Given the description of an element on the screen output the (x, y) to click on. 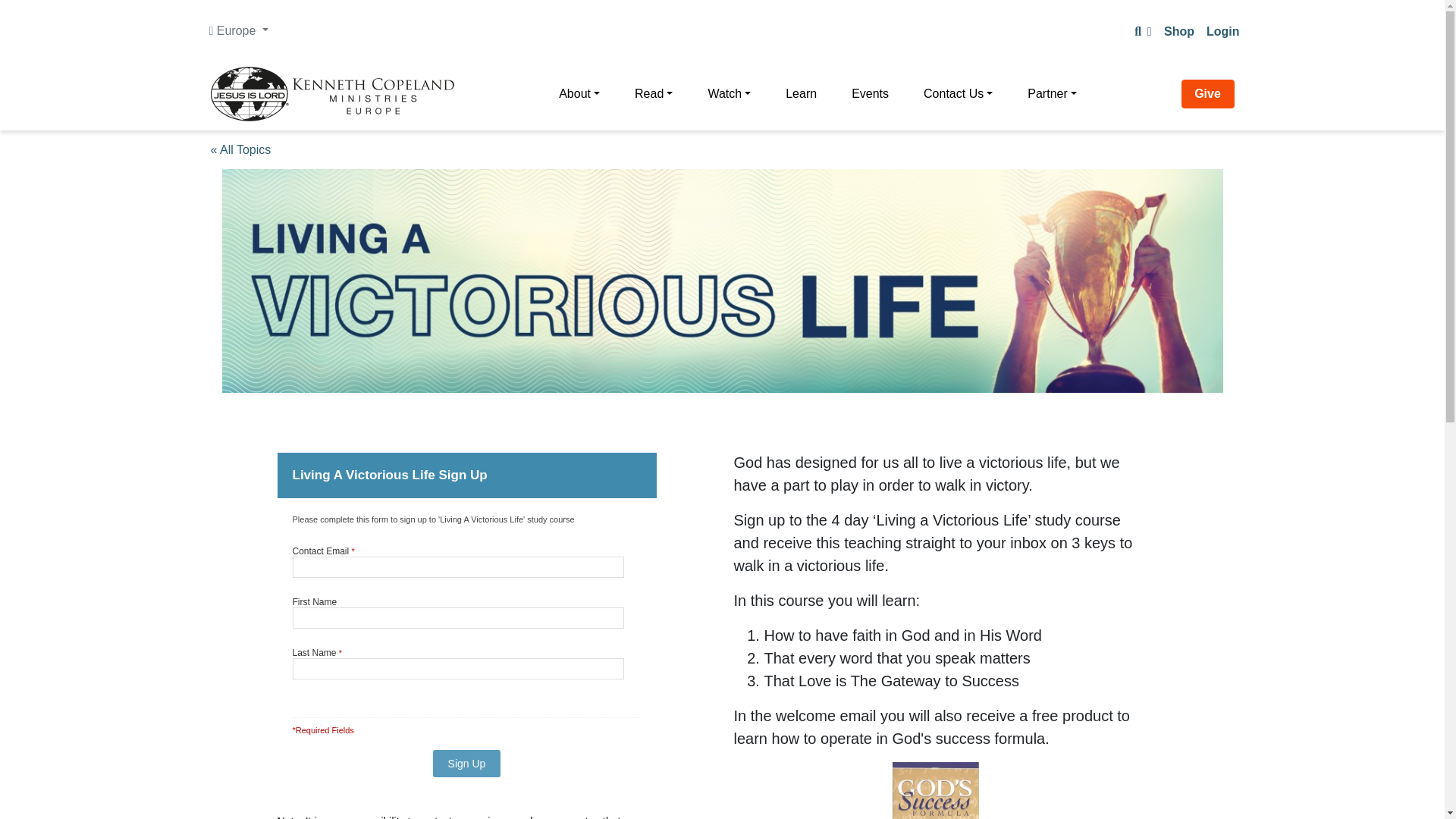
Login (1222, 31)
Tap for Home Page (332, 93)
Europe (238, 30)
Go (17, 14)
Read (653, 93)
About (579, 93)
Login to access orders, donations and account details (1222, 31)
Shop (1178, 31)
About (579, 93)
